Given the description of an element on the screen output the (x, y) to click on. 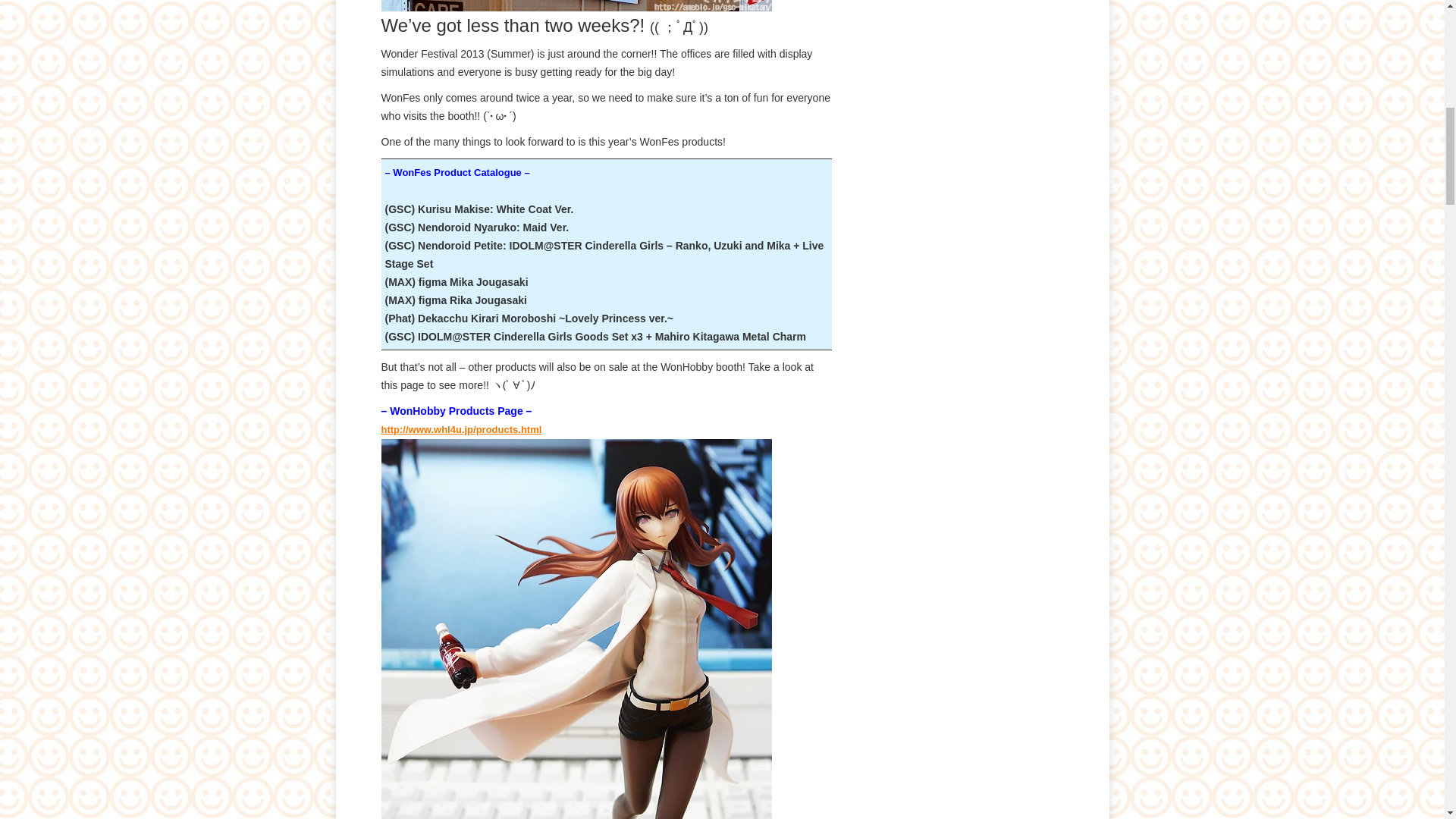
001 (575, 5)
